Given the description of an element on the screen output the (x, y) to click on. 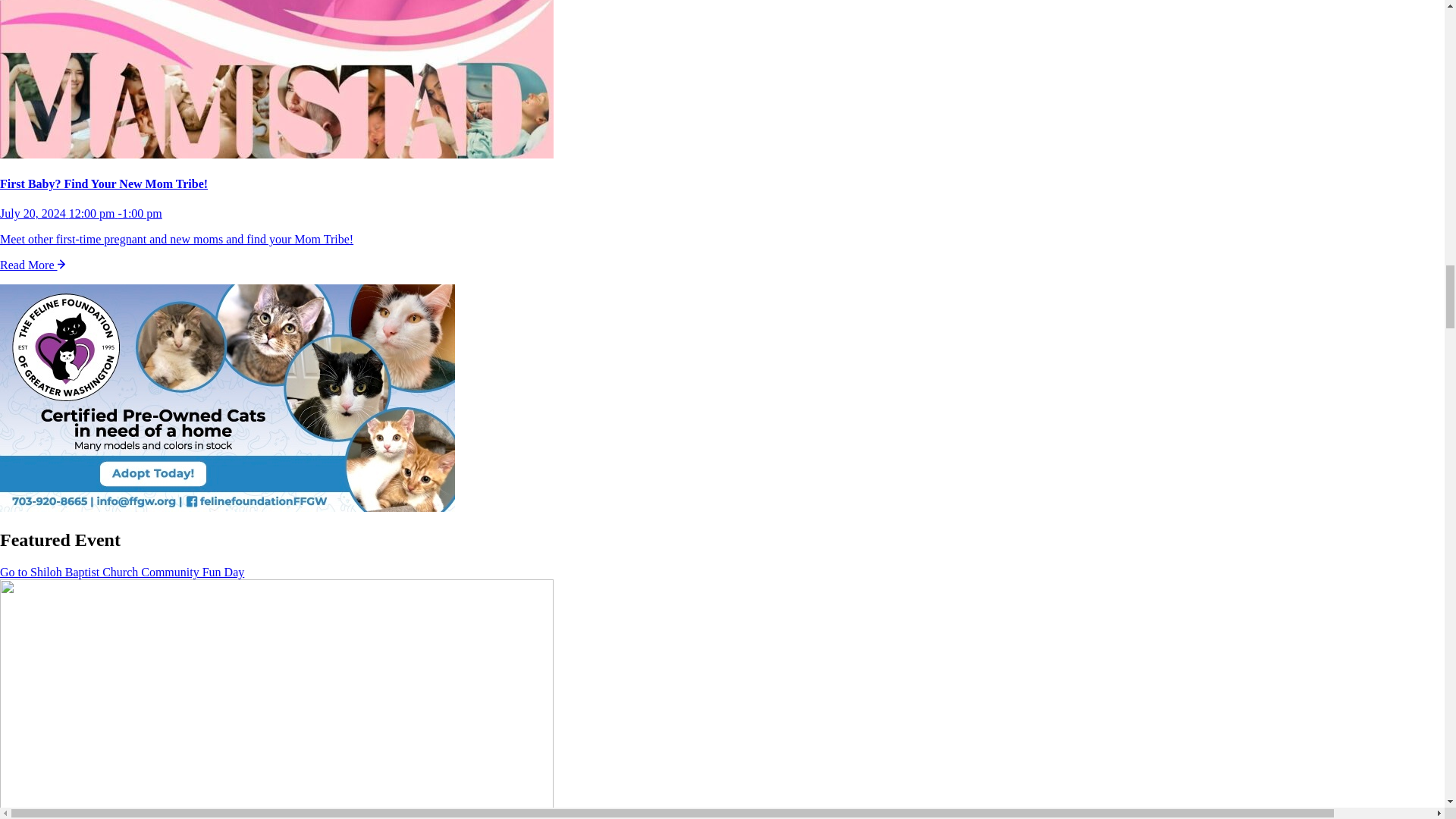
Adopt Today Certified Pre-Owned Cats (227, 399)
